Given the description of an element on the screen output the (x, y) to click on. 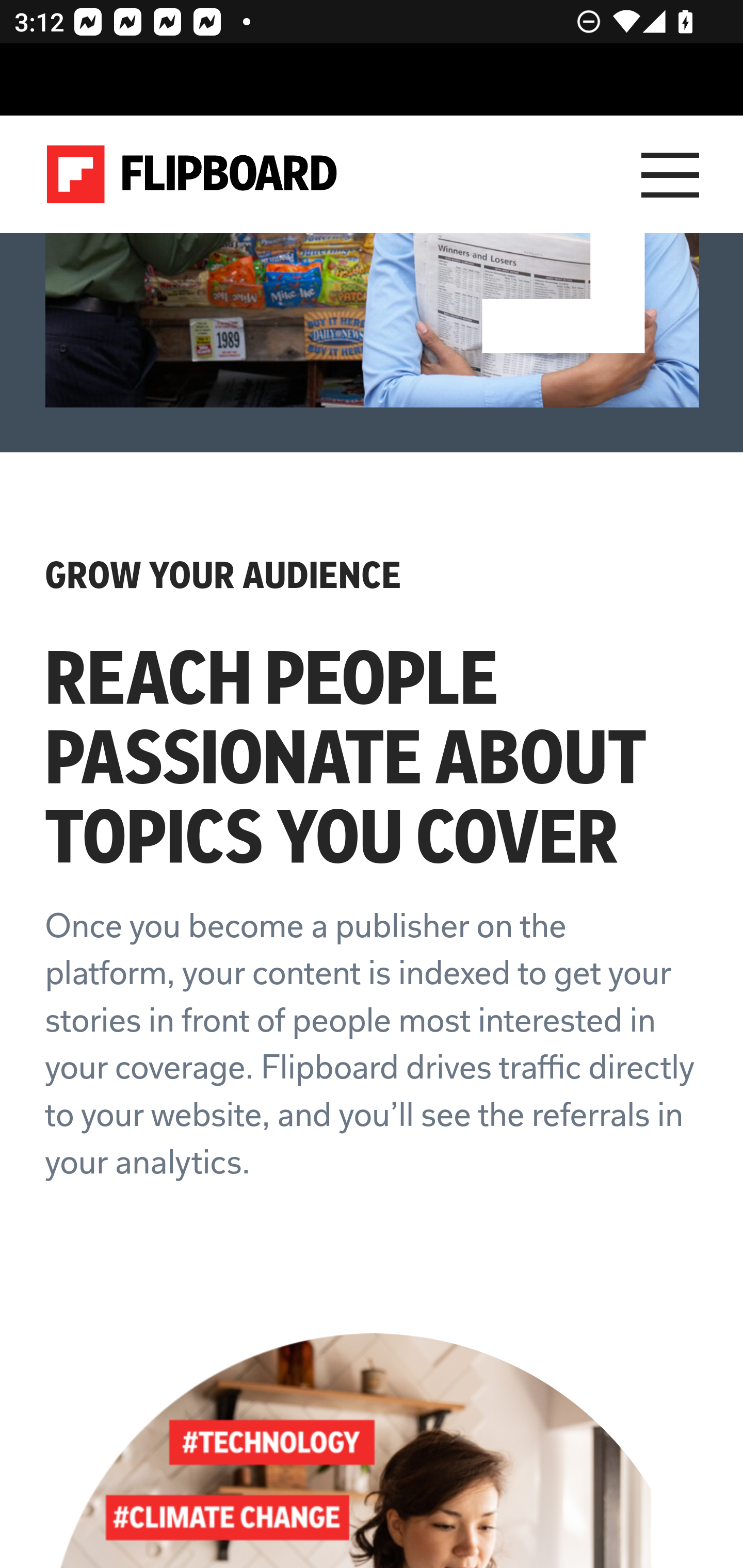
Flipboard Logo (192, 174)
